Given the description of an element on the screen output the (x, y) to click on. 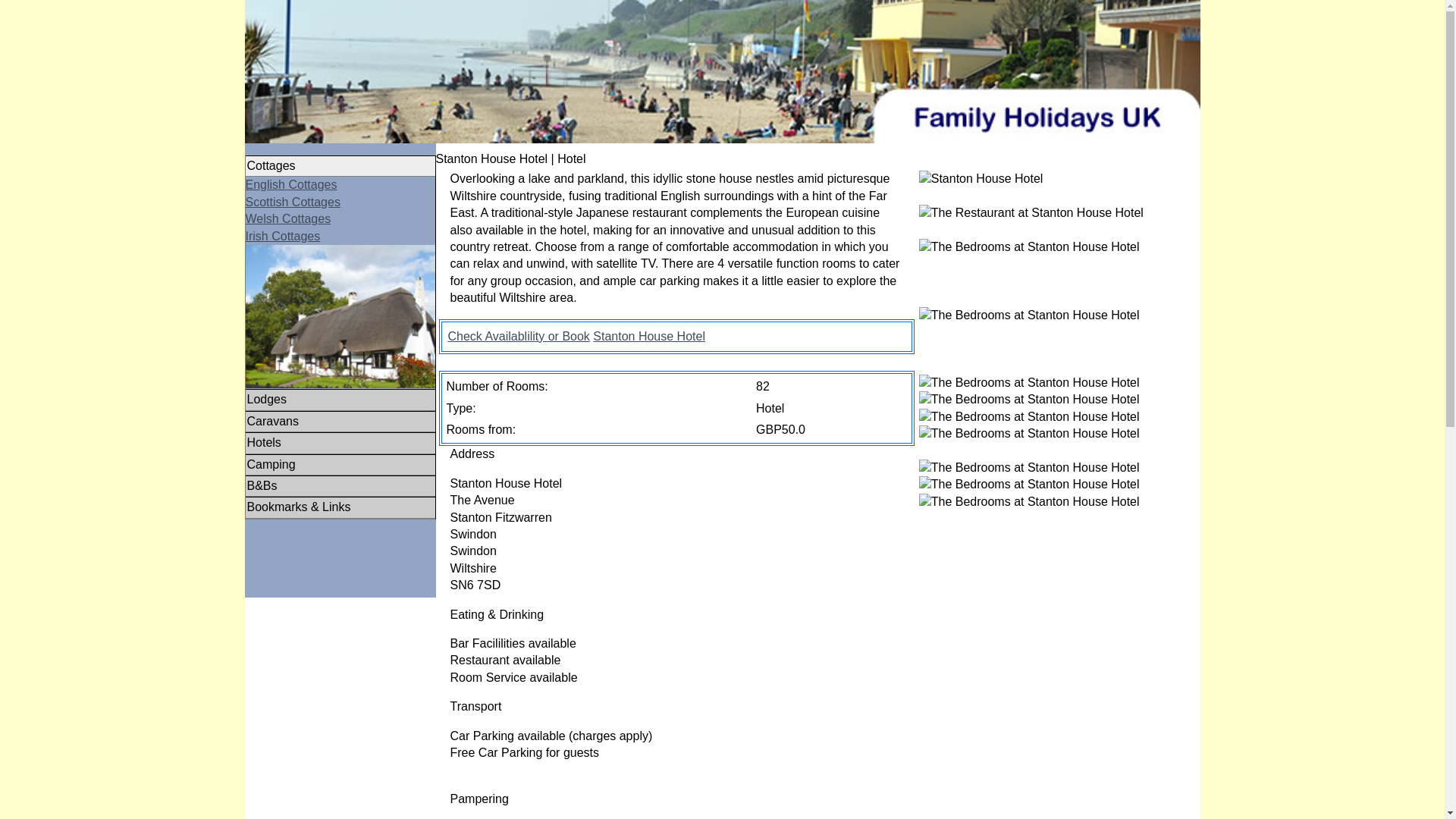
Scottish Cottages (293, 201)
English Cottages (291, 184)
Irish Cottages (283, 236)
Check Availablility or Book (517, 336)
Welsh Cottages (288, 218)
Stanton House Hotel (648, 336)
English holiday cottages (291, 184)
